Given the description of an element on the screen output the (x, y) to click on. 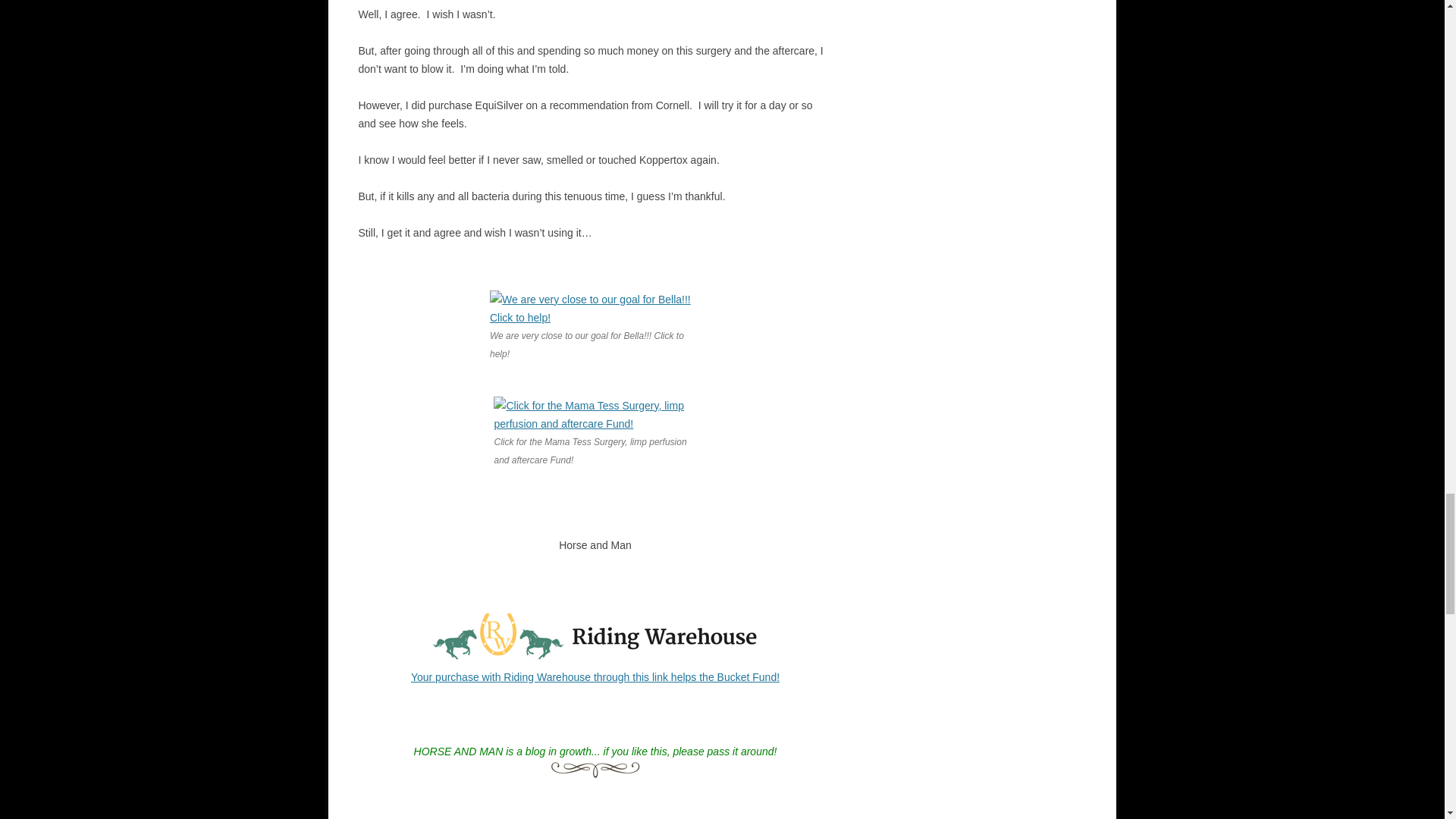
Help The Bucket Fund with your purchase! (594, 658)
Help The Bucket Fund with your purchase! (594, 676)
